Given the description of an element on the screen output the (x, y) to click on. 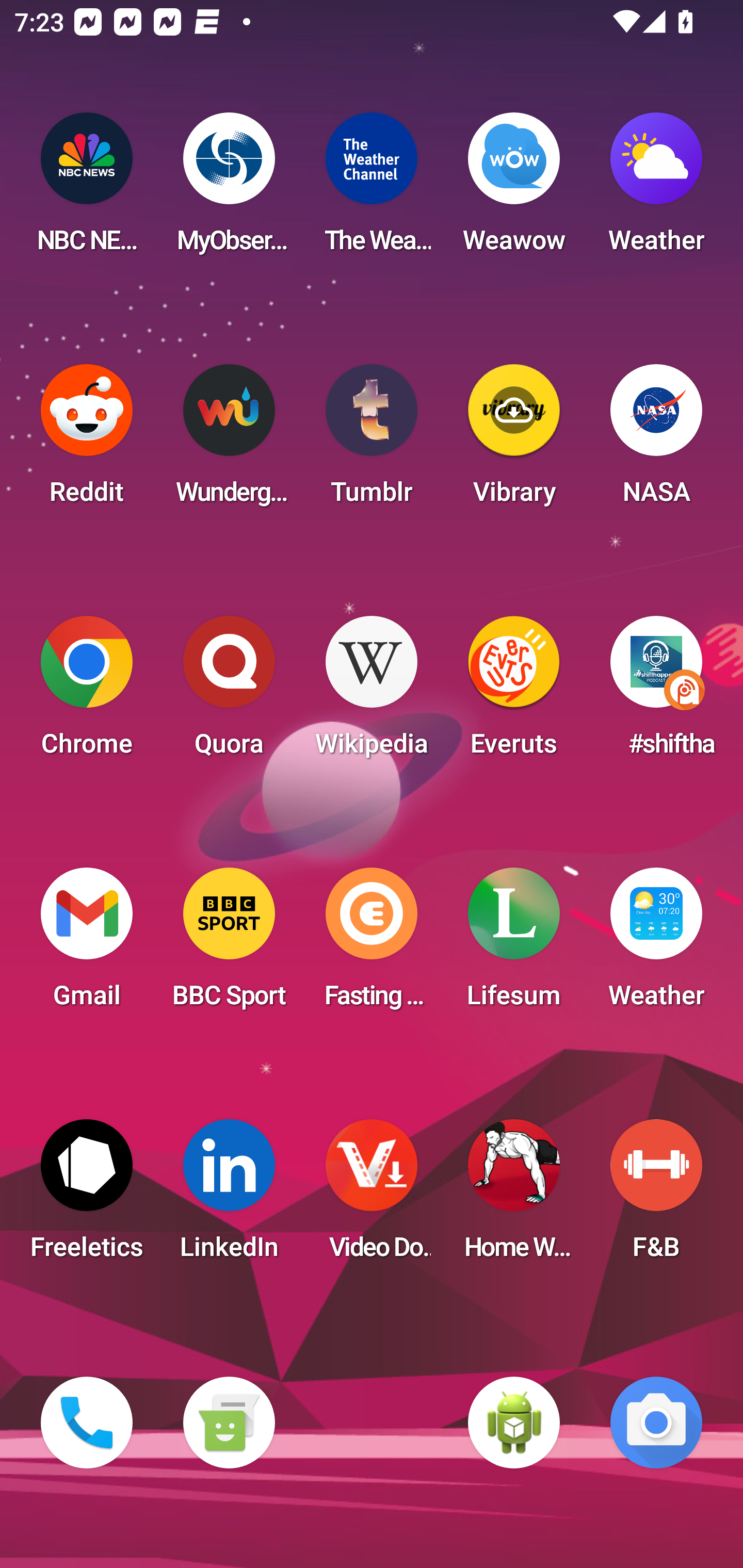
NBC NEWS (86, 188)
MyObservatory (228, 188)
The Weather Channel (371, 188)
Weawow (513, 188)
Weather (656, 188)
Reddit (86, 440)
Wunderground (228, 440)
Tumblr (371, 440)
Vibrary (513, 440)
NASA (656, 440)
Chrome (86, 692)
Quora (228, 692)
Wikipedia (371, 692)
Everuts (513, 692)
#shifthappens in the Digital Workplace Podcast (656, 692)
Gmail (86, 943)
BBC Sport (228, 943)
Fasting Coach (371, 943)
Lifesum (513, 943)
Weather (656, 943)
Freeletics (86, 1195)
LinkedIn (228, 1195)
Video Downloader & Ace Player (371, 1195)
Home Workout (513, 1195)
F&B (656, 1195)
Phone (86, 1422)
Messaging (228, 1422)
WebView Browser Tester (513, 1422)
Camera (656, 1422)
